Given the description of an element on the screen output the (x, y) to click on. 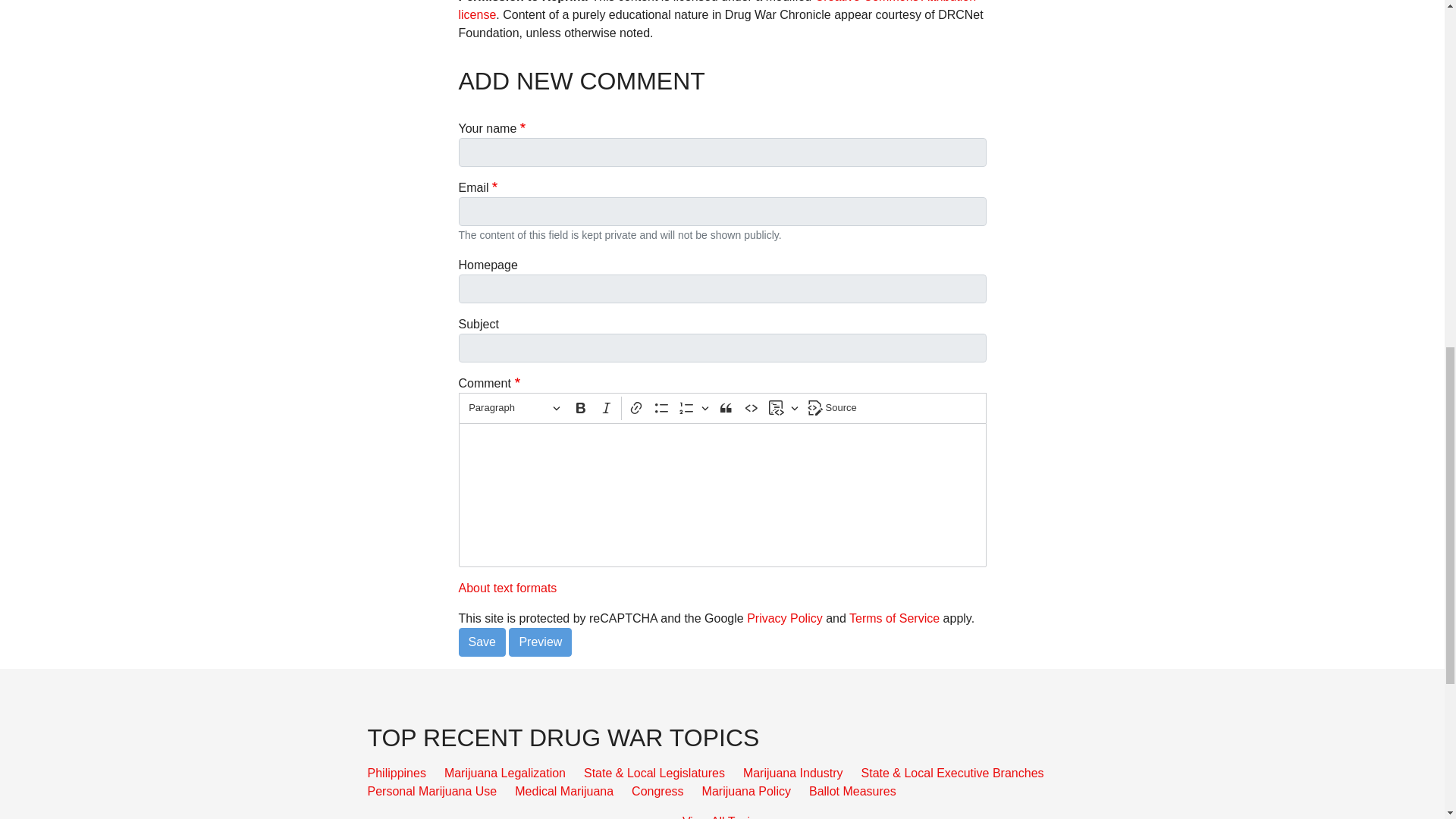
Preview (540, 642)
Save (481, 642)
